Given the description of an element on the screen output the (x, y) to click on. 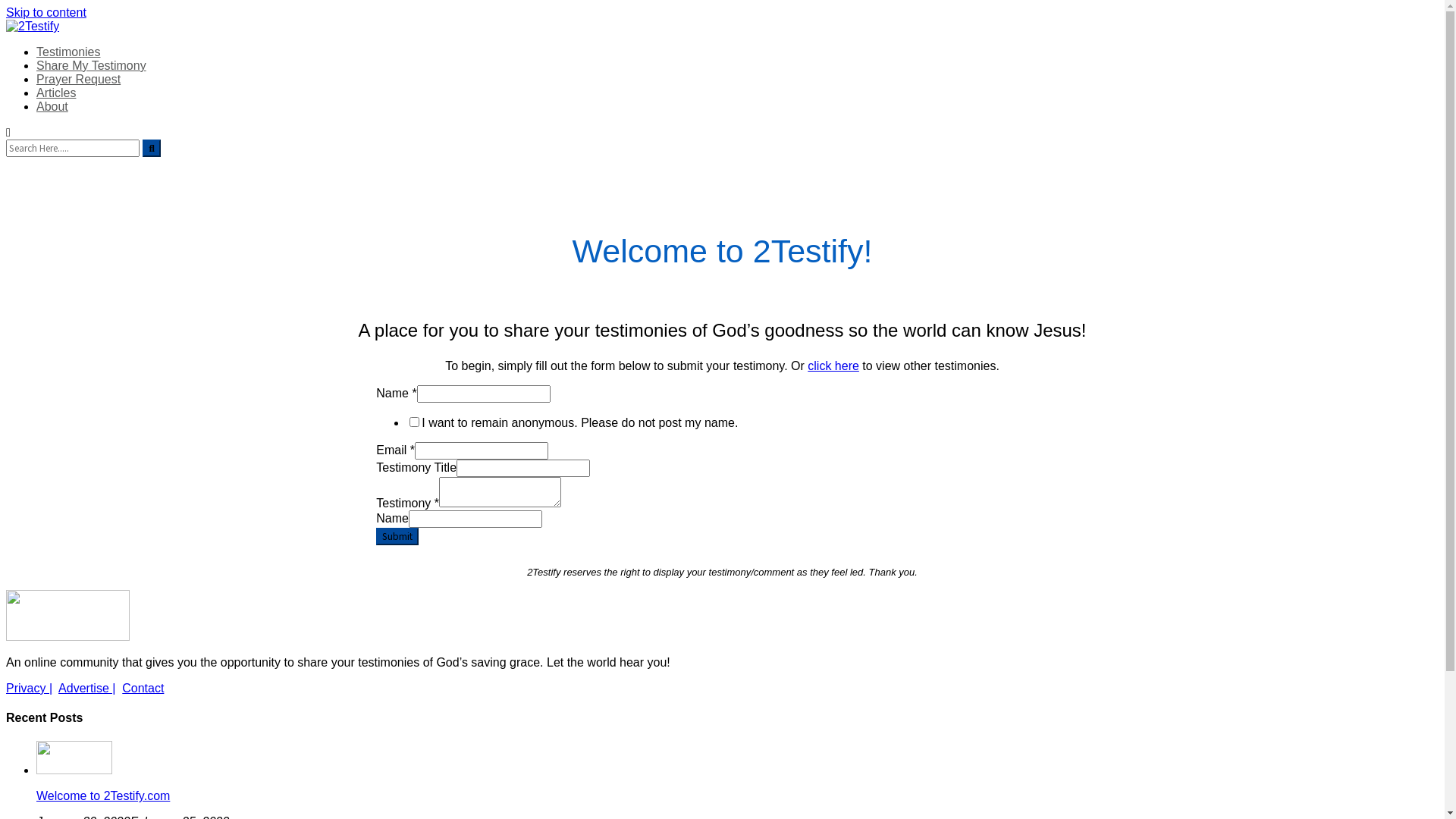
Skip to content Element type: text (46, 12)
Articles Element type: text (55, 92)
2Testify Element type: text (51, 62)
About Element type: text (52, 106)
Prayer Request Element type: text (78, 78)
Share My Testimony Element type: text (91, 65)
Contact Element type: text (142, 687)
Testimonies Element type: text (68, 51)
click here Element type: text (833, 365)
Privacy | Element type: text (29, 687)
Welcome to 2Testify.com Element type: text (737, 796)
Submit Element type: text (397, 536)
Advertise | Element type: text (86, 687)
